Given the description of an element on the screen output the (x, y) to click on. 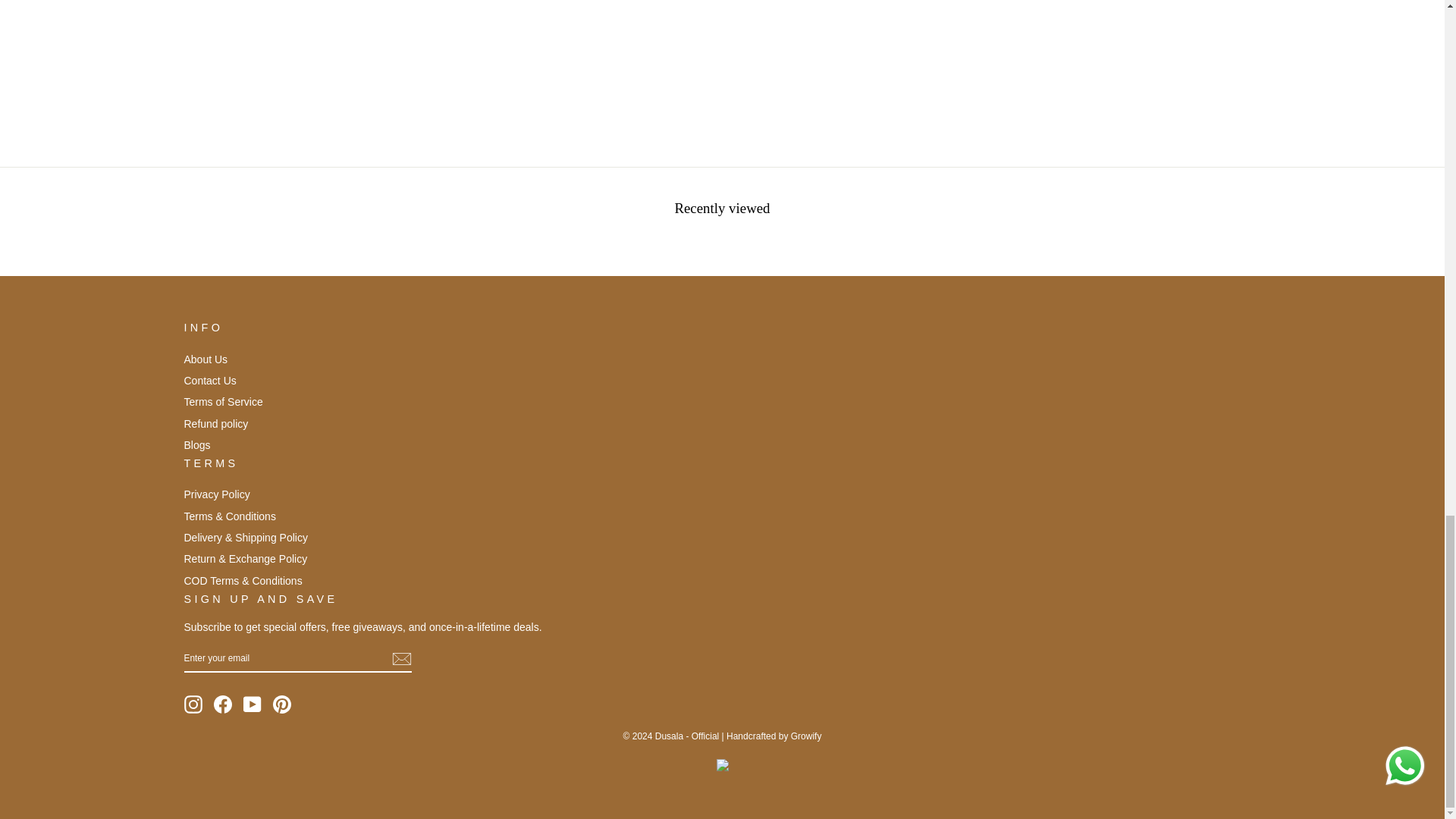
Dusala - Official  on Facebook (222, 704)
Dusala - Official  on Instagram (192, 704)
Dusala - Official  on YouTube (251, 704)
Dusala - Official  on Pinterest (282, 704)
